Given the description of an element on the screen output the (x, y) to click on. 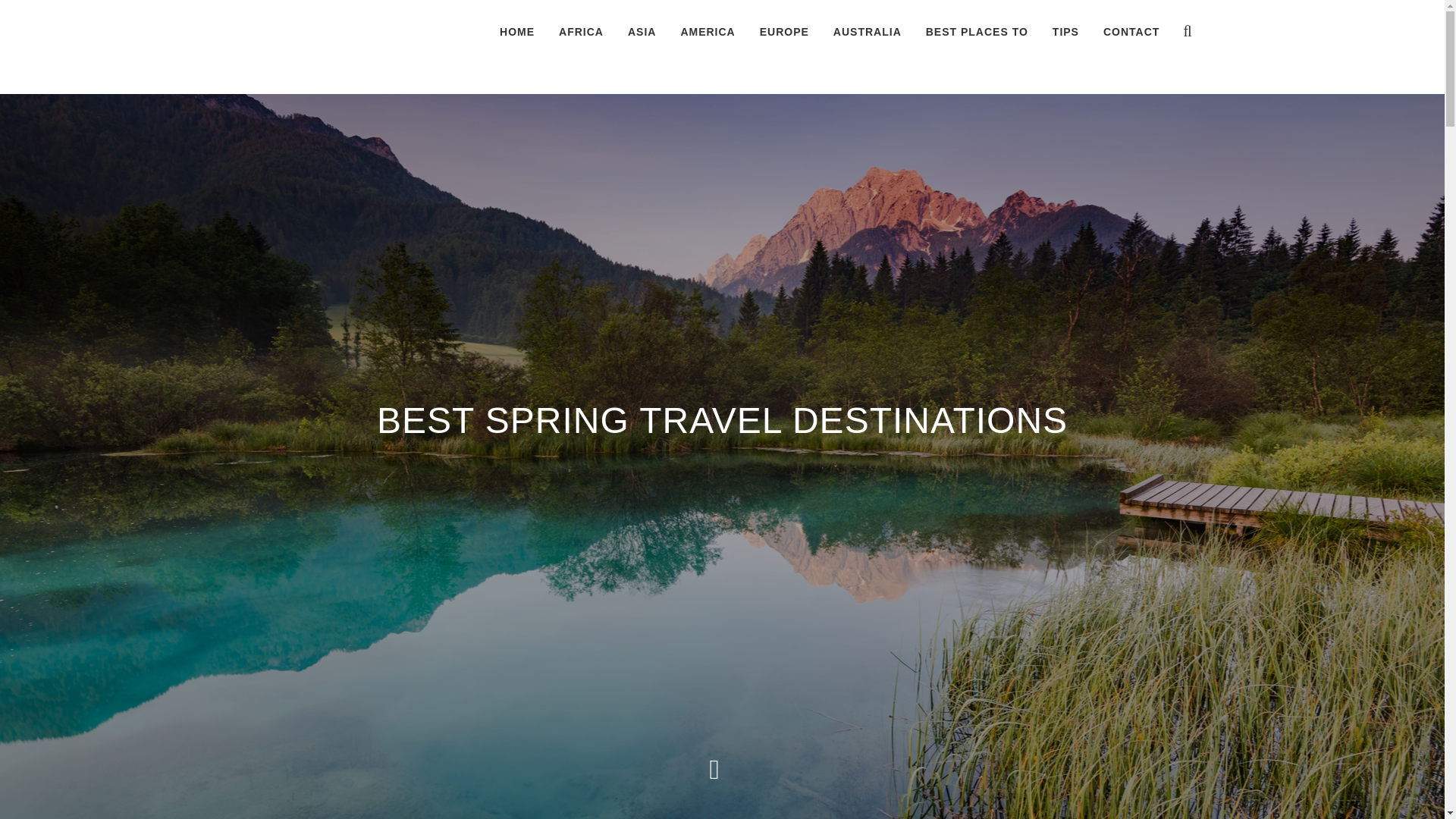
AFRICA (580, 32)
AMERICA (706, 32)
EUROPE (783, 32)
